Given the description of an element on the screen output the (x, y) to click on. 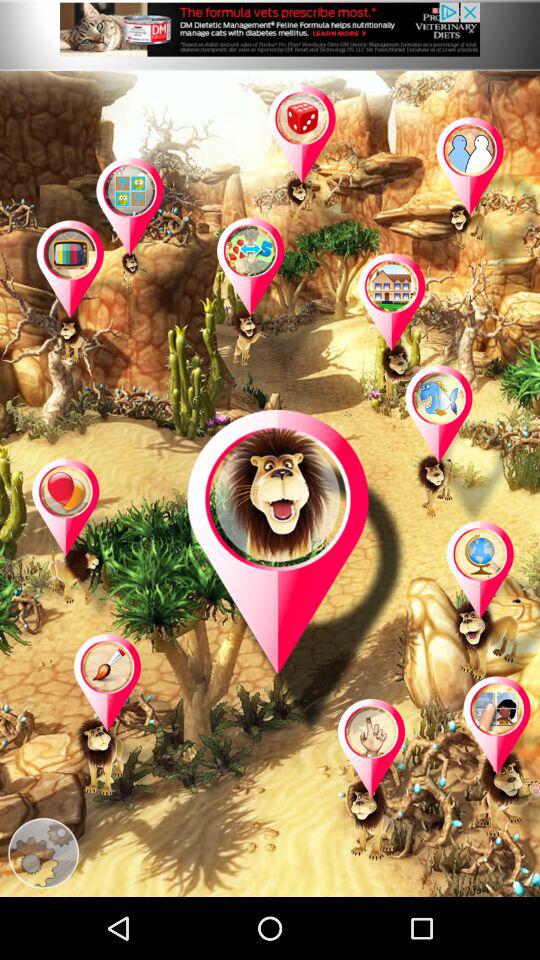
games (483, 198)
